Given the description of an element on the screen output the (x, y) to click on. 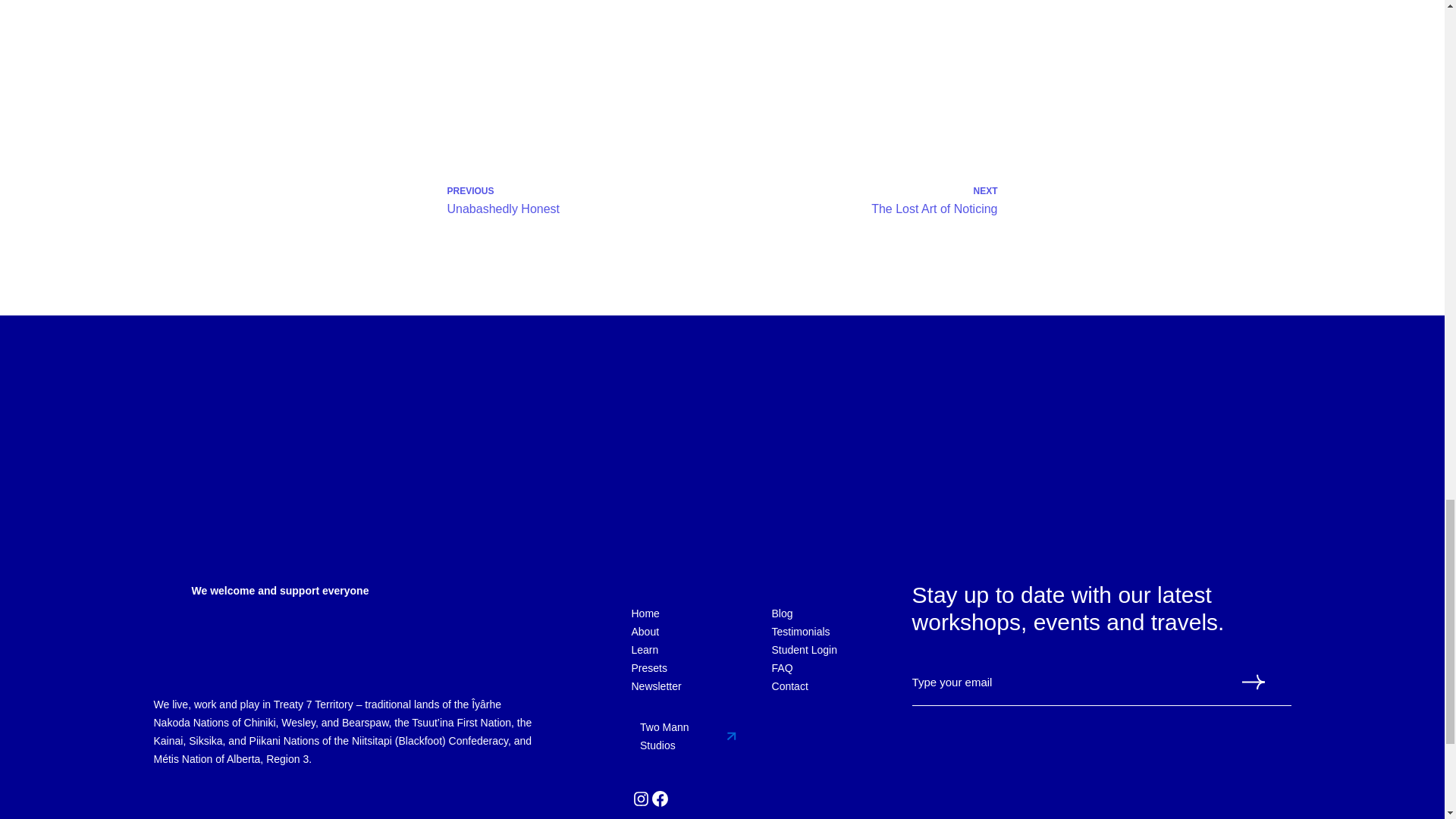
About (644, 631)
Testimonials (800, 631)
The Lost Art of Noticing (933, 208)
Instagram (639, 798)
Unabashedly Honest (503, 208)
Home (644, 613)
Contact (789, 686)
Presets (648, 668)
The Lost Art of Noticing (867, 138)
Student Login (804, 649)
